Given the description of an element on the screen output the (x, y) to click on. 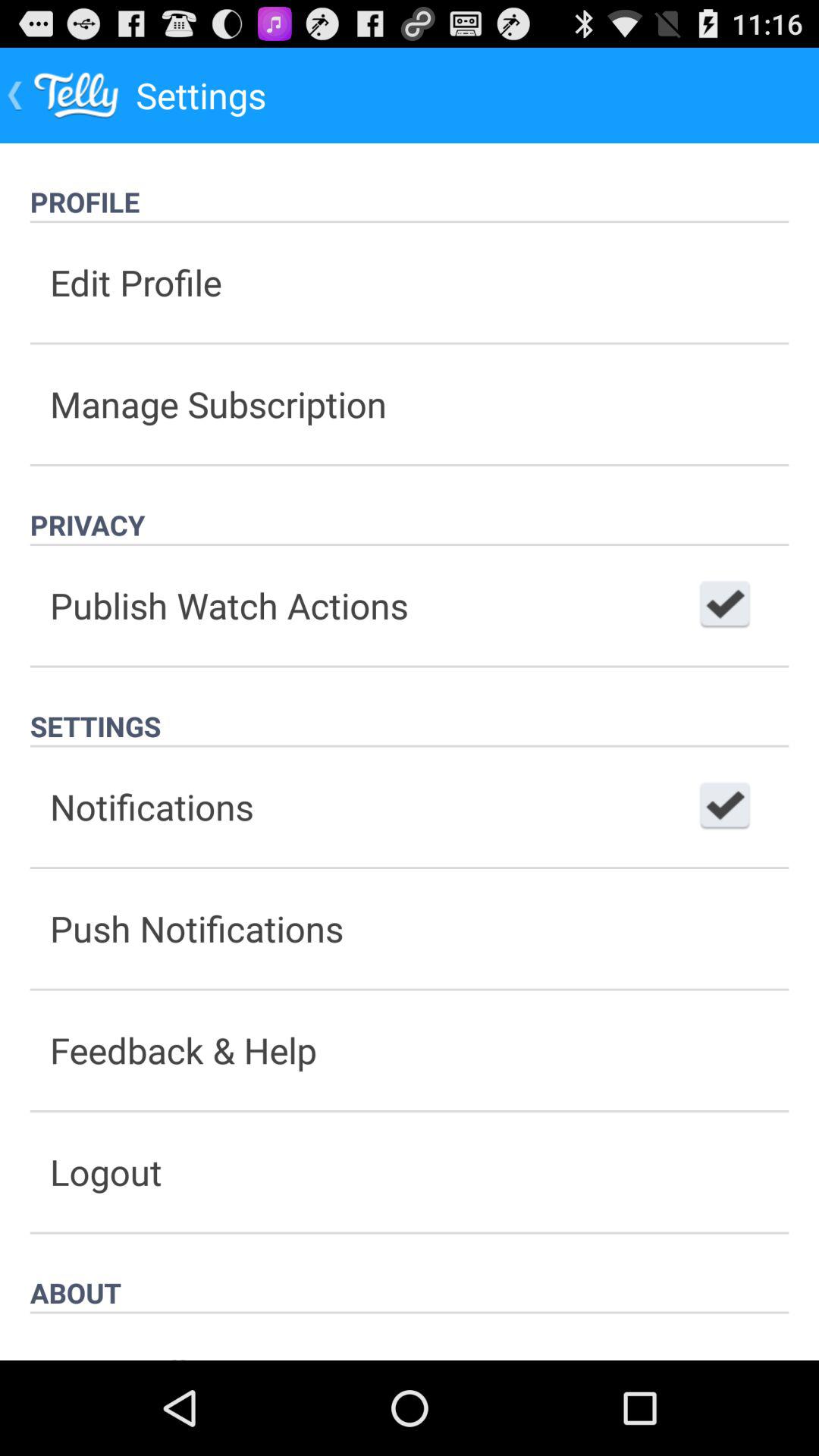
select publish watch actions (724, 605)
